Given the description of an element on the screen output the (x, y) to click on. 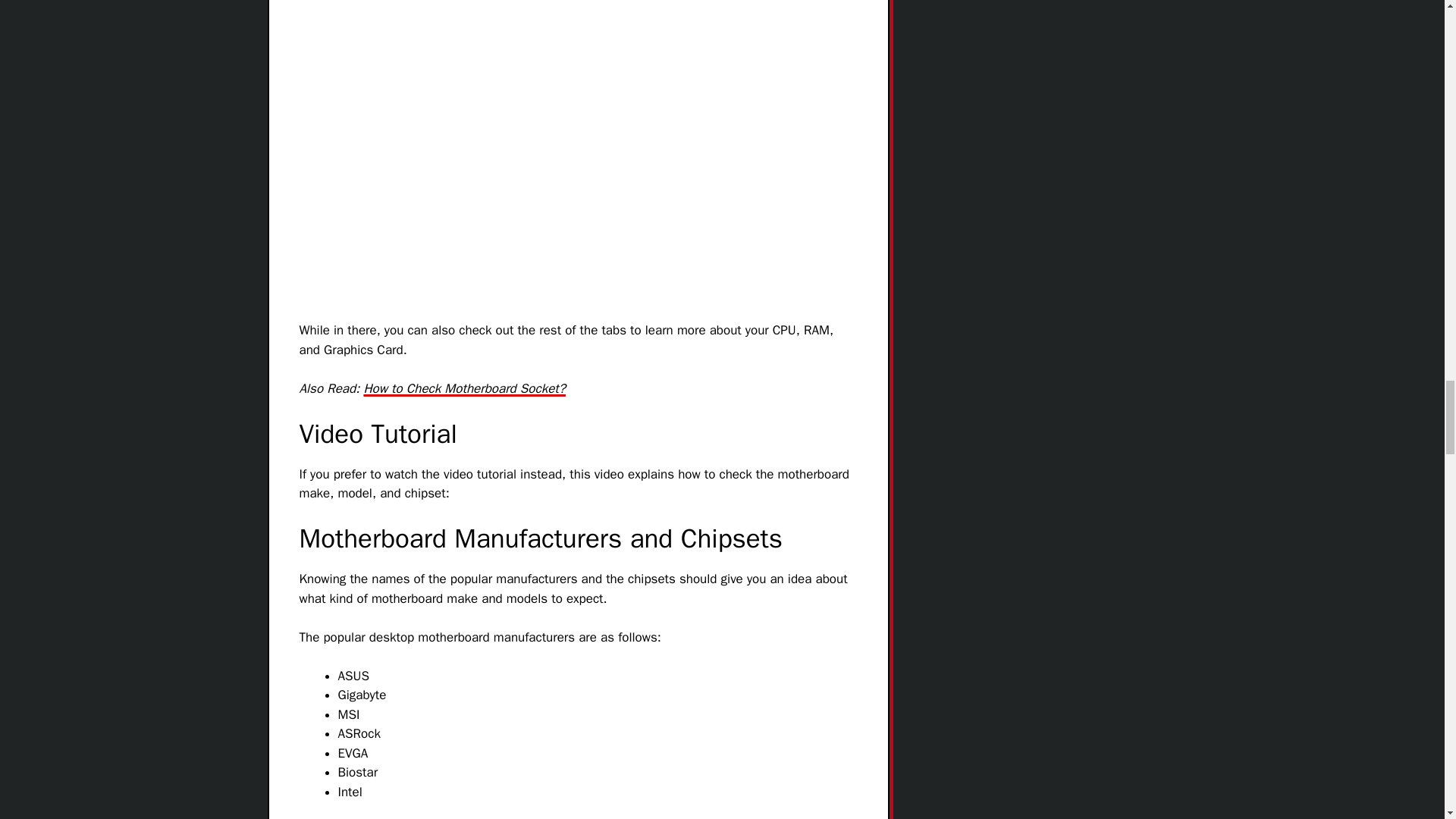
How to Check Motherboard Socket? (464, 388)
